Given the description of an element on the screen output the (x, y) to click on. 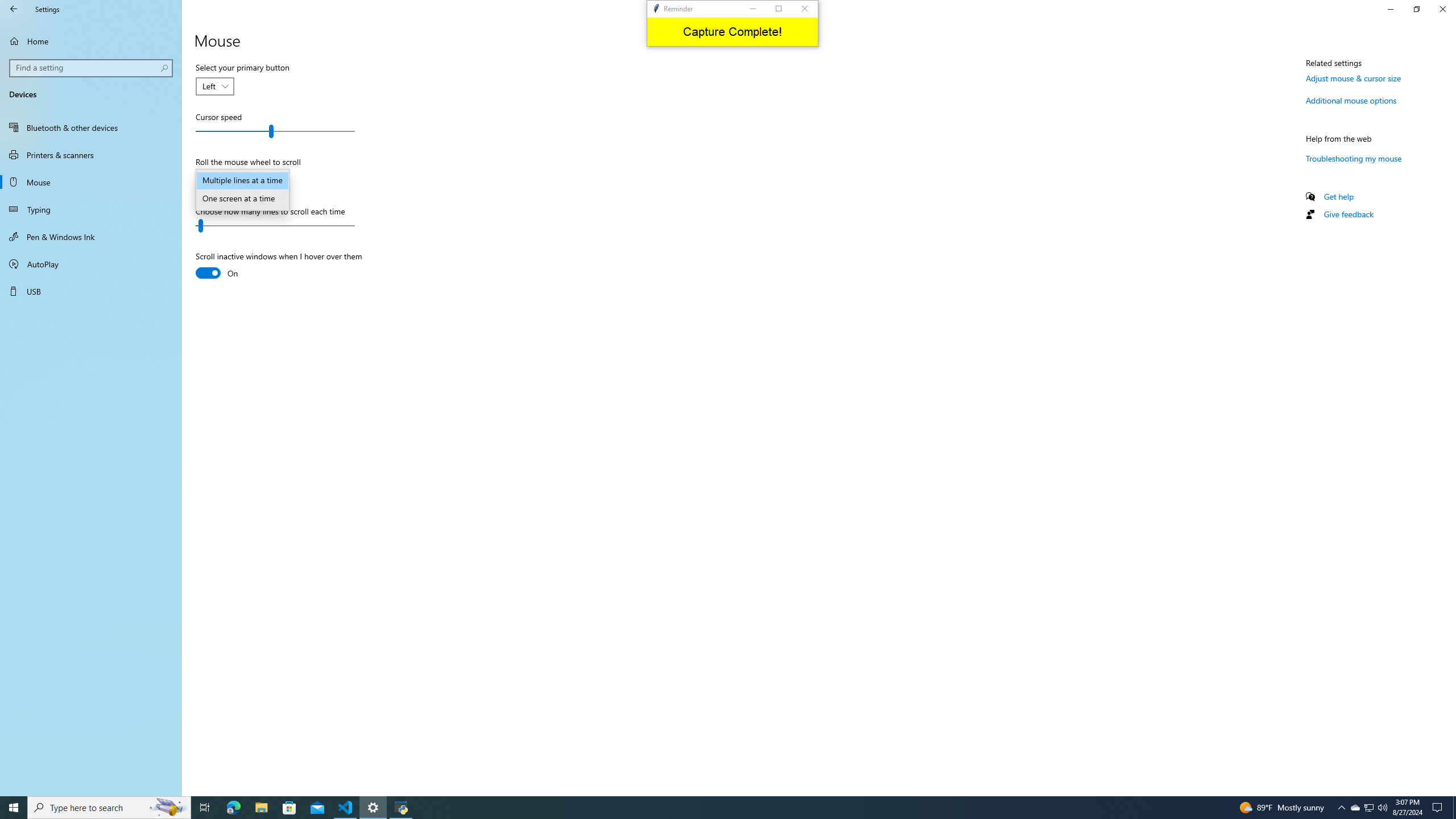
USB (91, 290)
Bluetooth & other devices (91, 126)
Cursor speed (275, 131)
Roll the mouse wheel to scroll (213, 180)
Choose how many lines to scroll each time (275, 226)
Typing (91, 208)
AutoPlay (91, 263)
